Given the description of an element on the screen output the (x, y) to click on. 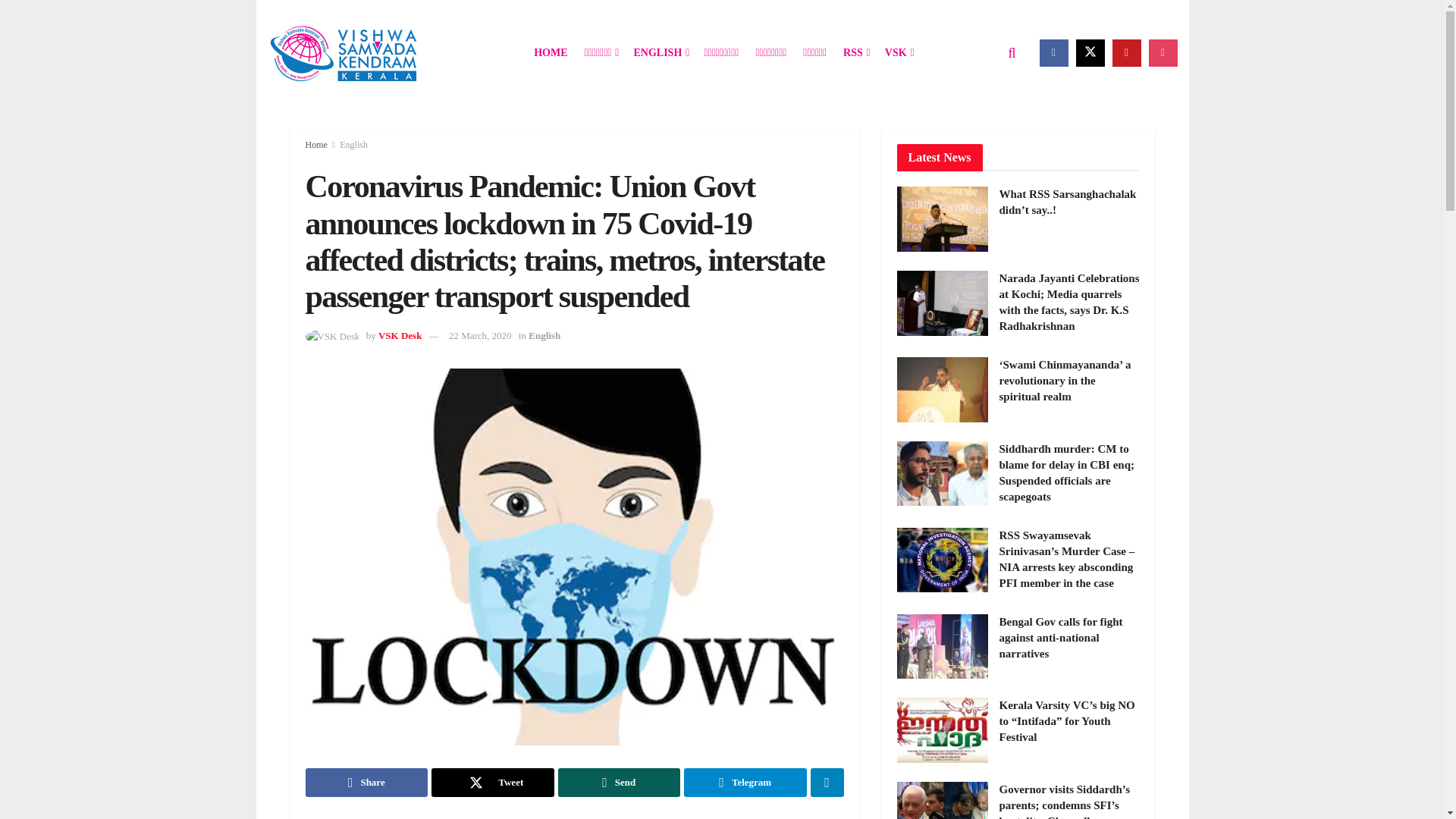
ENGLISH (660, 52)
HOME (550, 52)
RSS (855, 52)
VSK (898, 52)
